Given the description of an element on the screen output the (x, y) to click on. 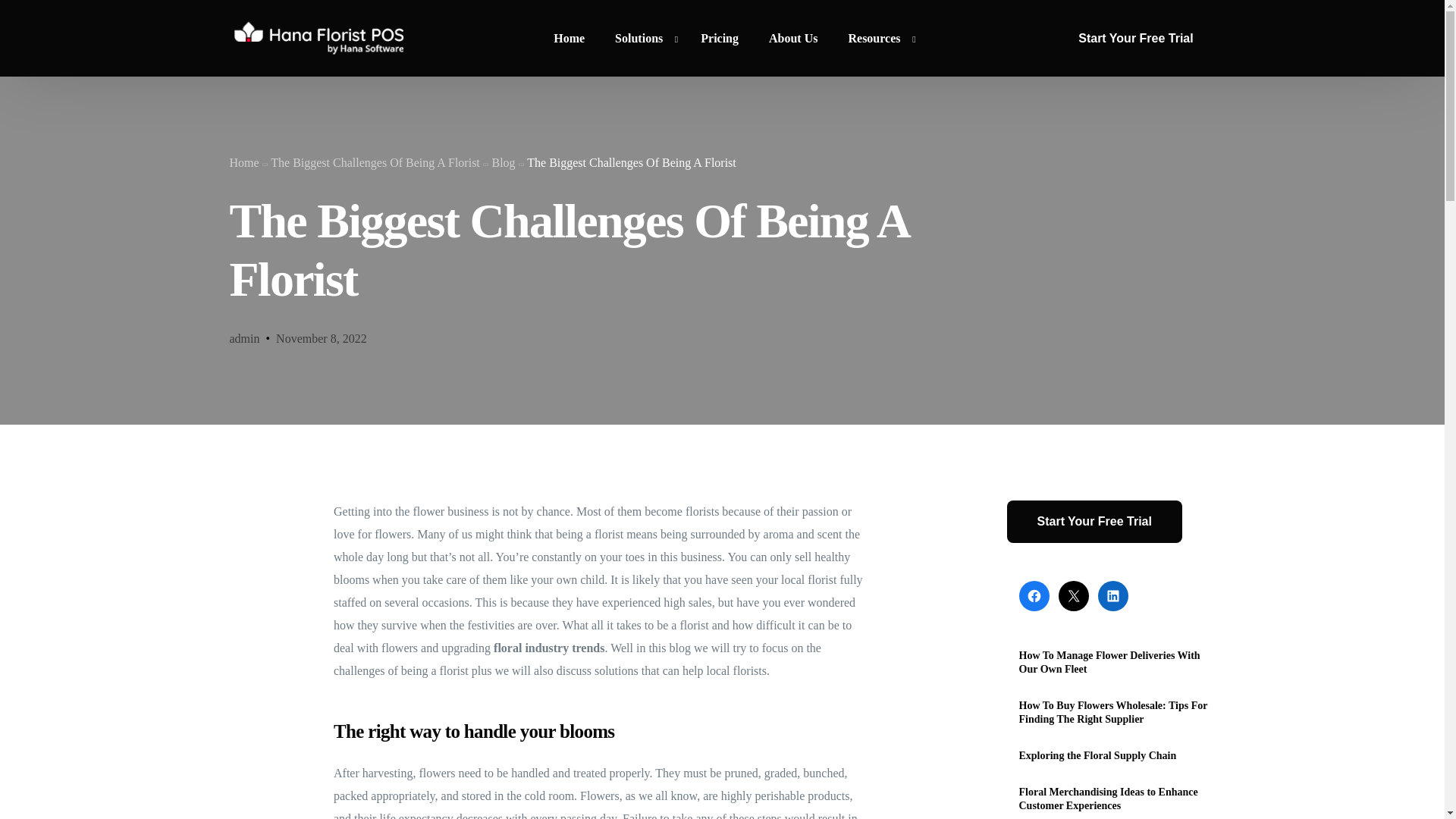
Resources (877, 38)
How To Manage Flower Deliveries With Our Own Fleet (1117, 662)
admin (243, 338)
Solutions (642, 38)
Start Your Free Trial (1135, 38)
Exploring the Floral Supply Chain (1117, 755)
Blog (503, 162)
About Us (793, 38)
The Biggest Challenges Of Being A Florist (375, 162)
Start Your Free Trial (1094, 521)
Floral Merchandising Ideas to Enhance Customer Experiences (1117, 799)
Pricing (719, 38)
Home (243, 162)
